Given the description of an element on the screen output the (x, y) to click on. 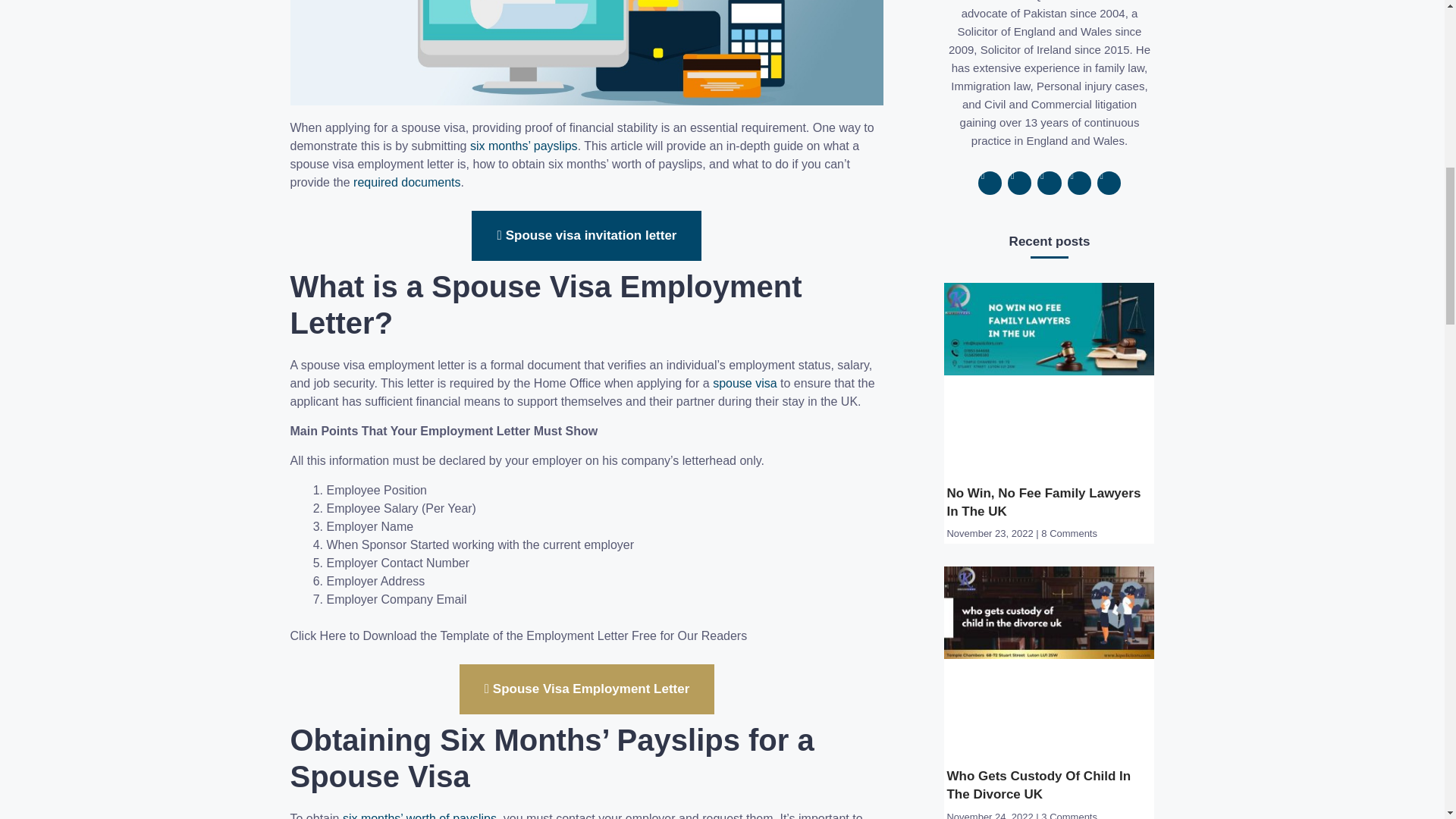
required documents (406, 182)
